Given the description of an element on the screen output the (x, y) to click on. 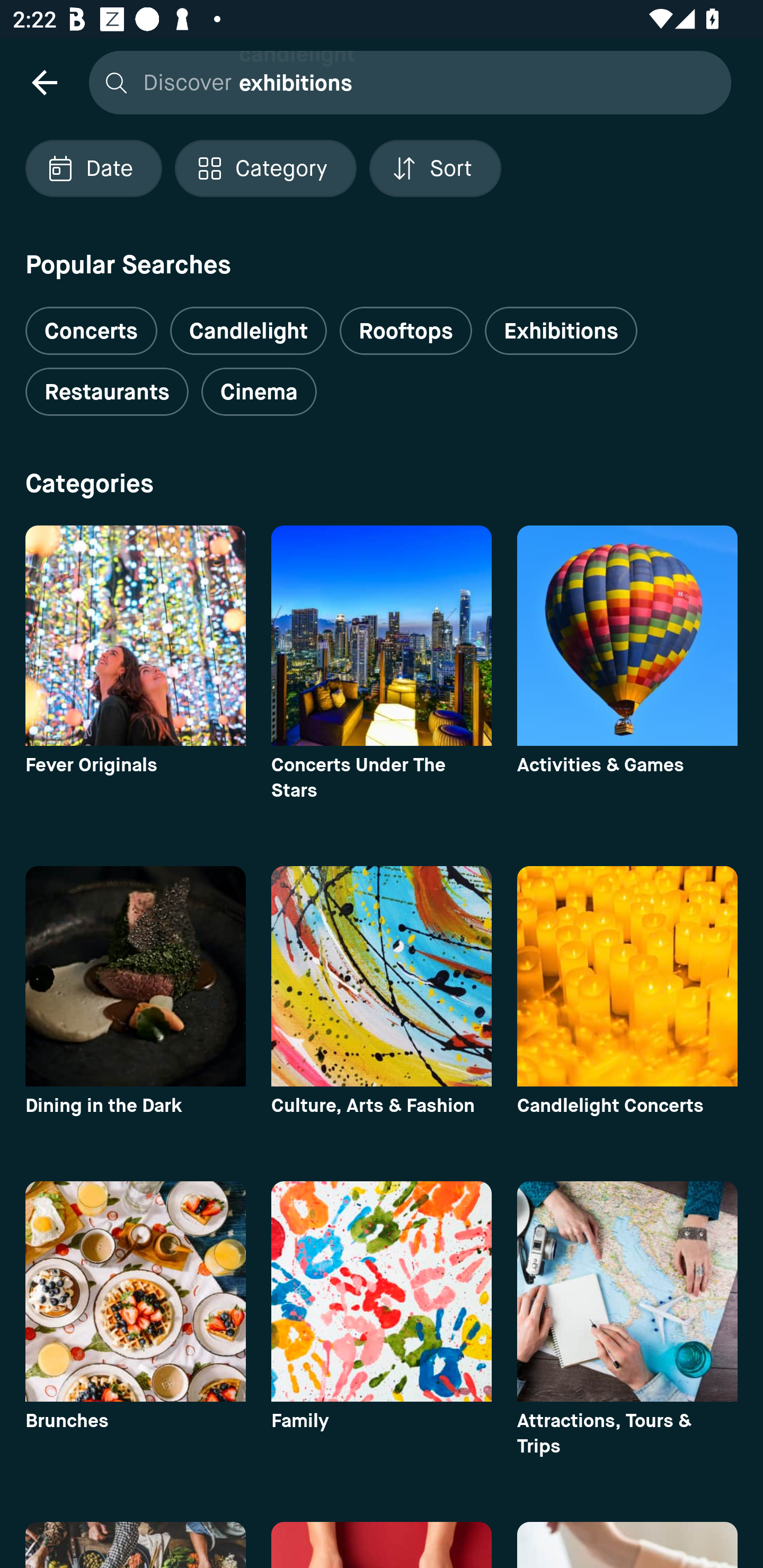
navigation icon (44, 81)
Discover candlelight exhibitions (405, 81)
Localized description Date (93, 168)
Localized description Category (265, 168)
Localized description Sort (435, 168)
Concerts (91, 323)
Candlelight (248, 330)
Rooftops (405, 330)
Exhibitions (560, 330)
Restaurants (106, 391)
Cinema (258, 391)
category image (135, 635)
category image (381, 635)
category image (627, 635)
category image (135, 975)
category image (381, 975)
category image (627, 975)
category image (135, 1290)
category image (381, 1290)
category image (627, 1290)
